Given the description of an element on the screen output the (x, y) to click on. 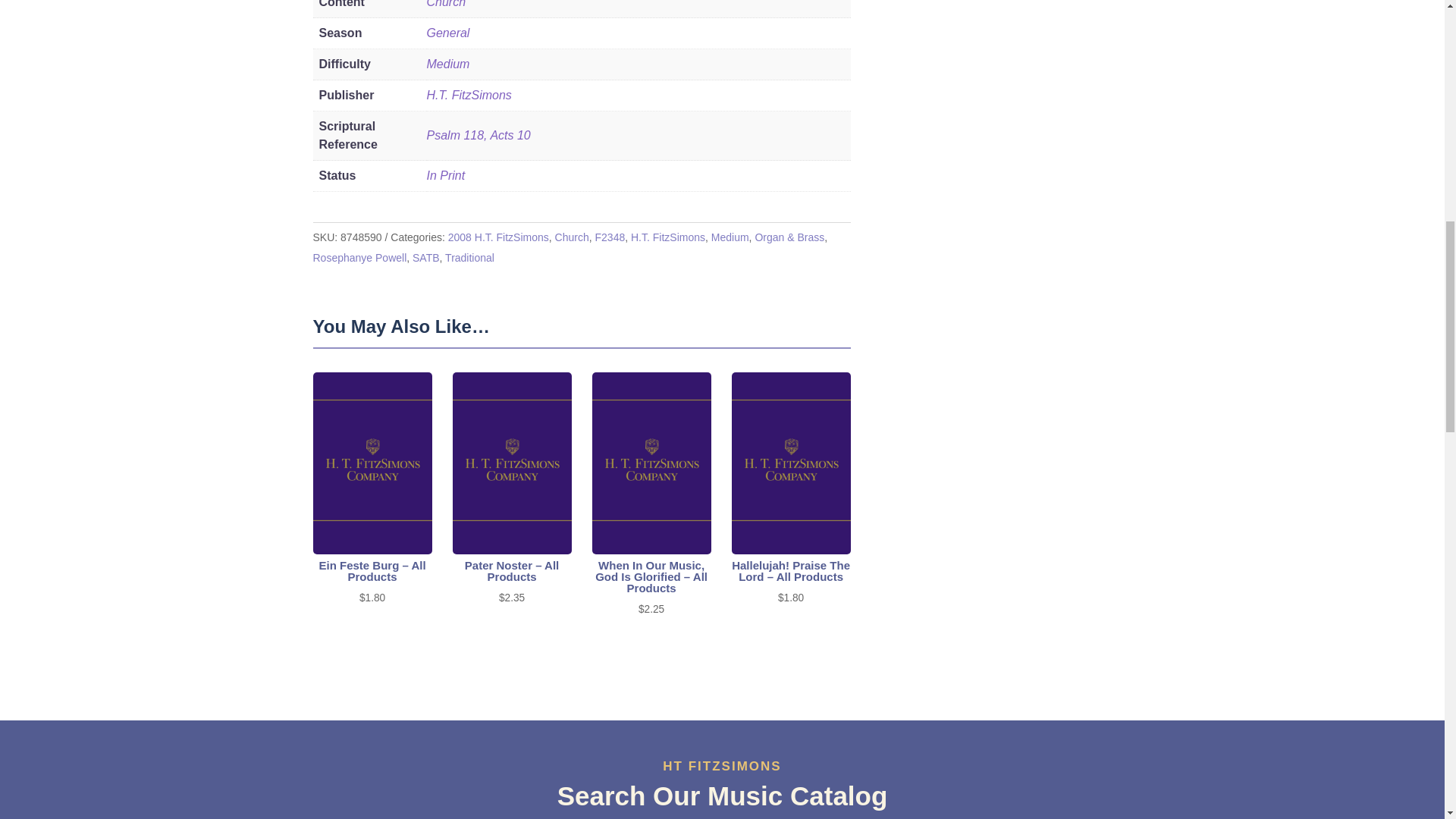
H.T. FitzSimons (667, 236)
Traditional (470, 257)
2008 H.T. FitzSimons (498, 236)
Medium (447, 63)
Medium (730, 236)
H.T. FitzSimons (468, 94)
F2348 (610, 236)
Church (445, 4)
General (447, 32)
Church (571, 236)
Psalm 118, Acts 10 (477, 134)
Rosephanye Powell (359, 257)
SATB (425, 257)
In Print (445, 174)
